Given the description of an element on the screen output the (x, y) to click on. 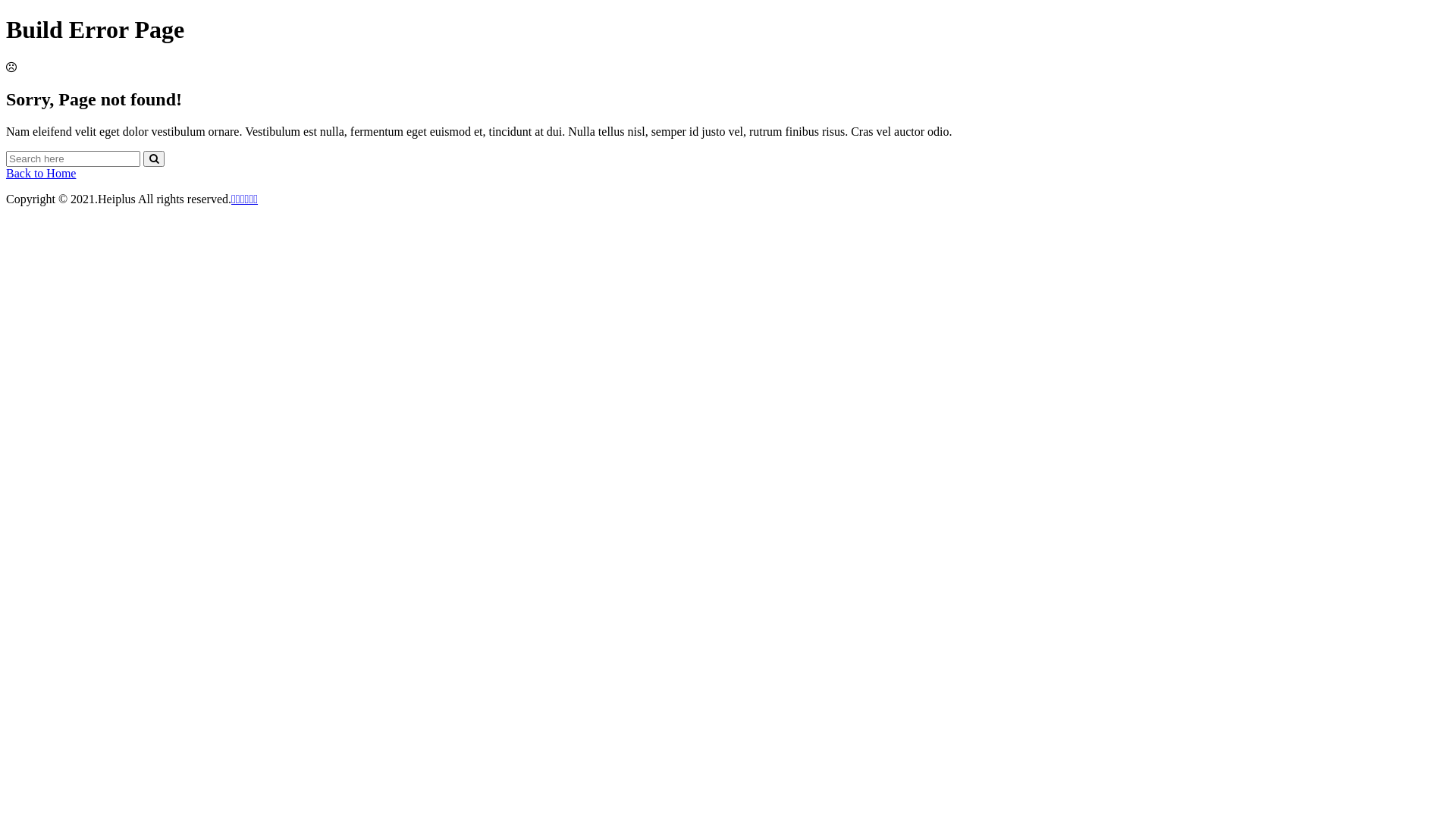
Back to Home Element type: text (40, 172)
